Given the description of an element on the screen output the (x, y) to click on. 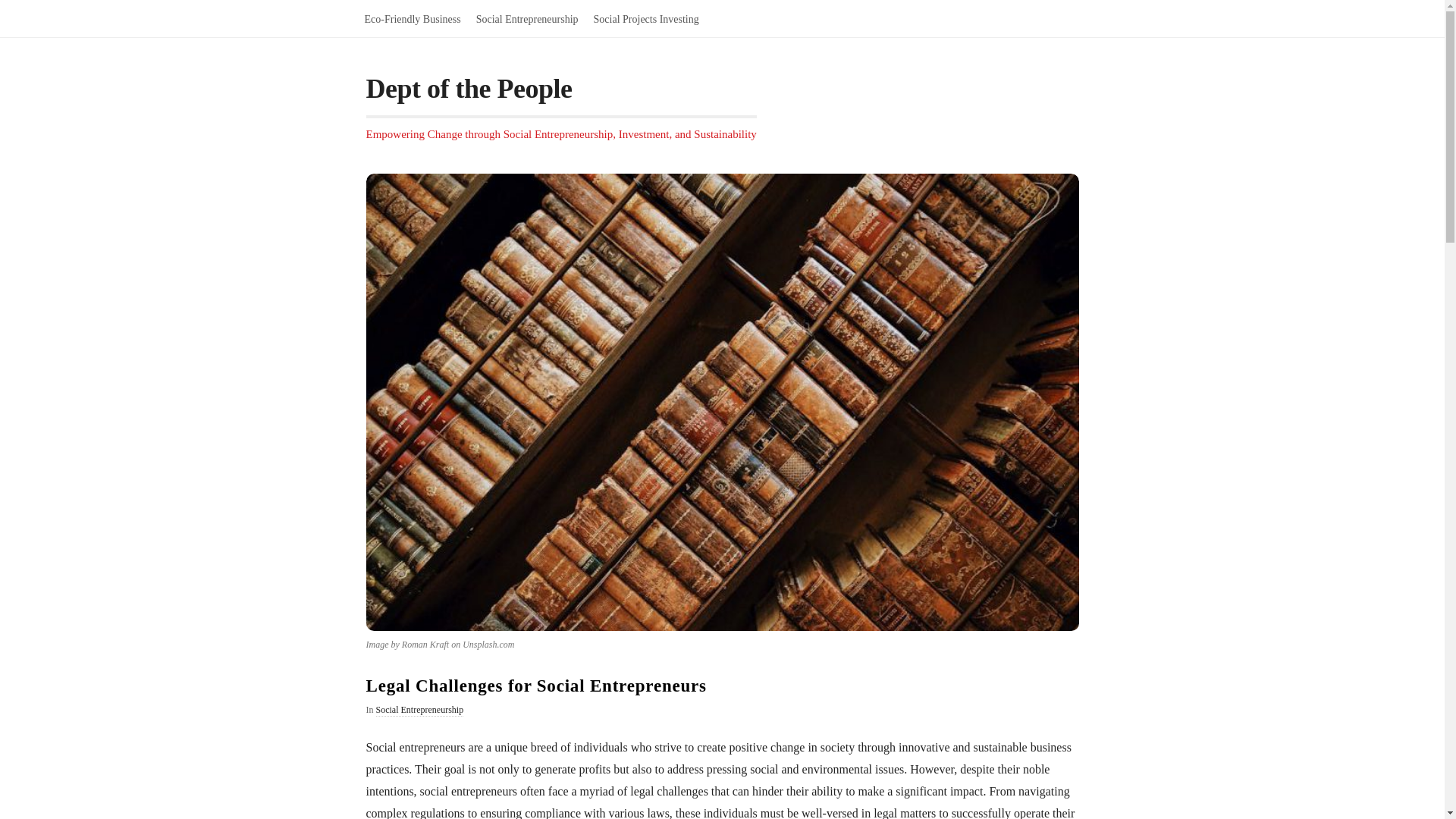
Eco-Friendly Business (411, 18)
Social Projects Investing (646, 18)
Dept of the People (468, 92)
Dept of the People (468, 92)
Social Entrepreneurship (527, 18)
Social Entrepreneurship (419, 710)
